Given the description of an element on the screen output the (x, y) to click on. 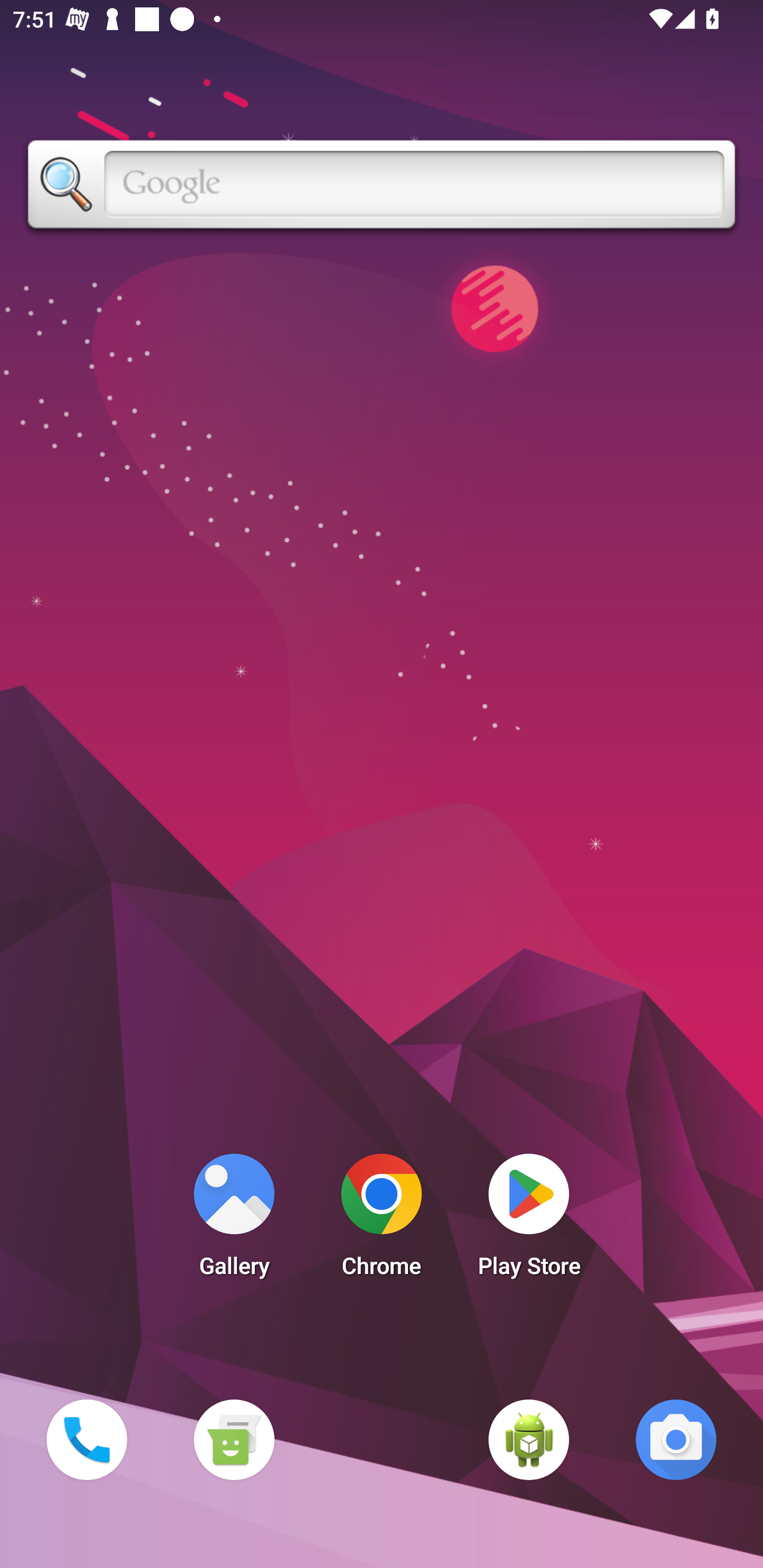
Gallery (233, 1220)
Chrome (381, 1220)
Play Store (528, 1220)
Phone (86, 1439)
Messaging (233, 1439)
WebView Browser Tester (528, 1439)
Camera (676, 1439)
